Given the description of an element on the screen output the (x, y) to click on. 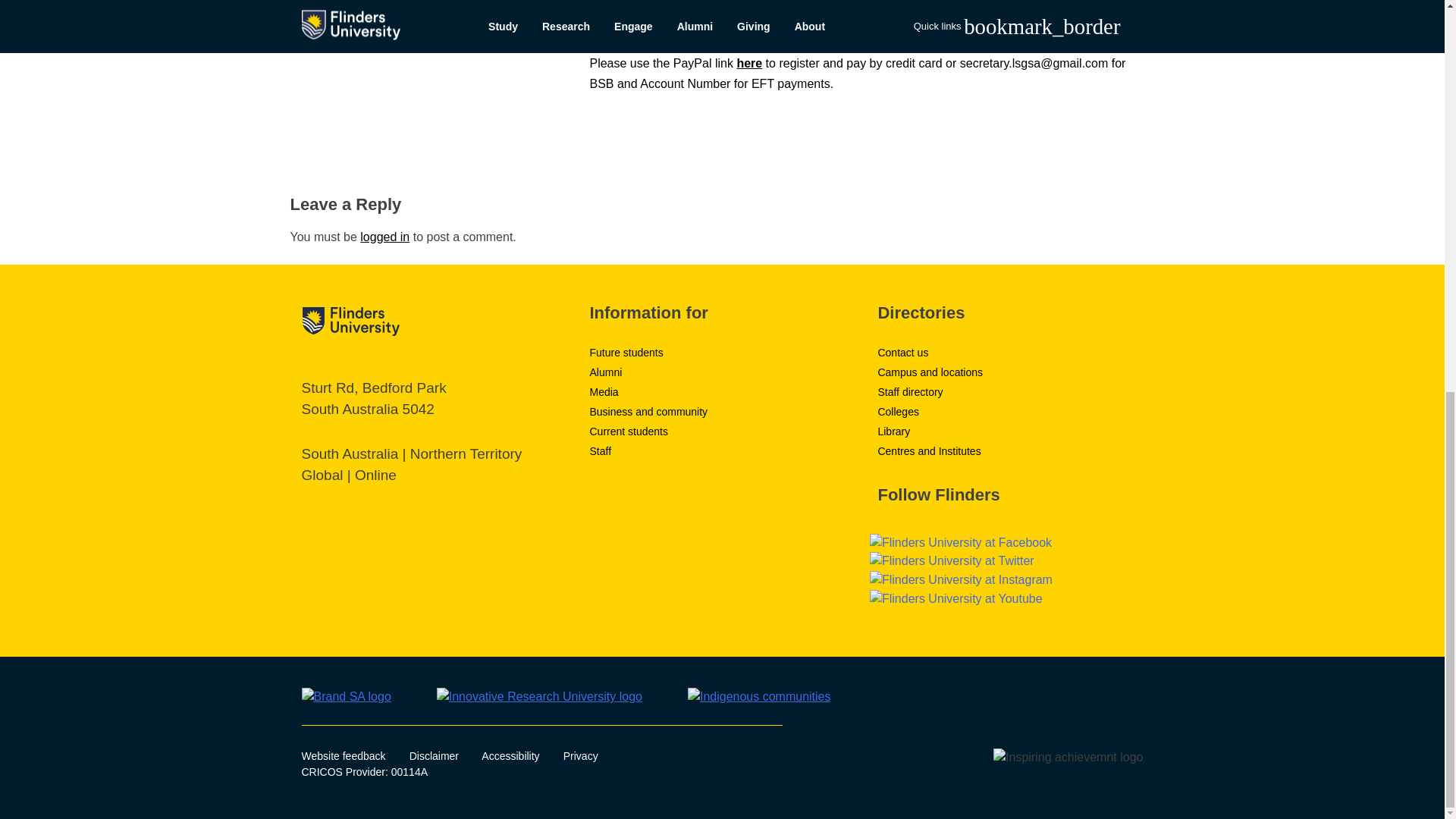
logged in (384, 236)
Contact us (902, 352)
Future students (625, 352)
Staff (600, 451)
here (748, 62)
Campus and locations (929, 372)
Current students (628, 431)
Business and community (648, 411)
Media (603, 391)
Alumni (605, 372)
